Given the description of an element on the screen output the (x, y) to click on. 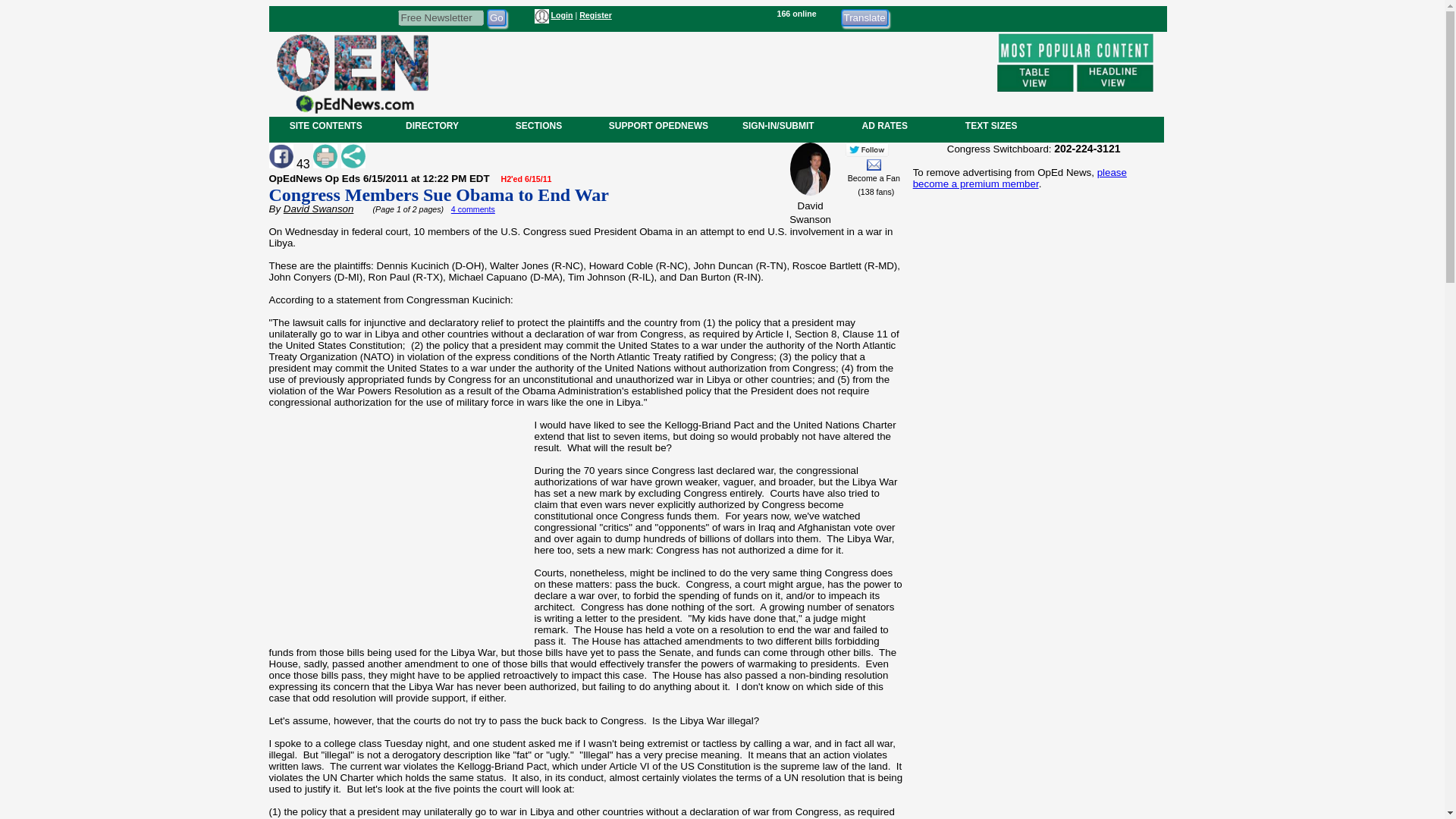
Register (595, 14)
SECTIONS (537, 125)
AD RATES (884, 125)
Translate (864, 17)
SITE CONTENTS (325, 125)
Go (496, 17)
David Swanson (318, 208)
SUPPORT OPEDNEWS (658, 125)
DIRECTORY (431, 125)
Share on Facebook (279, 156)
